Given the description of an element on the screen output the (x, y) to click on. 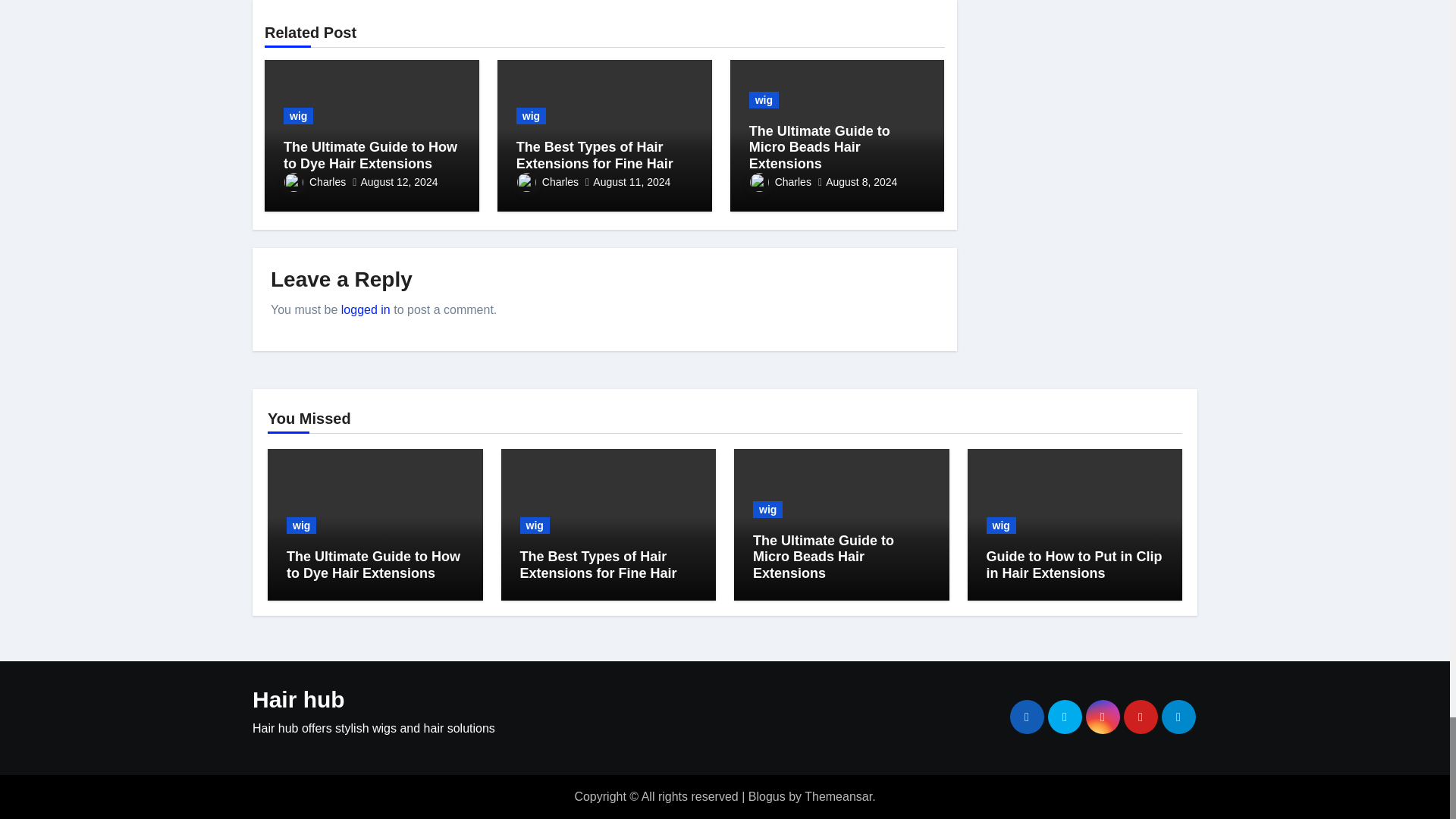
Permalink to: Guide to How to Put in Clip in Hair Extensions (1073, 564)
